Given the description of an element on the screen output the (x, y) to click on. 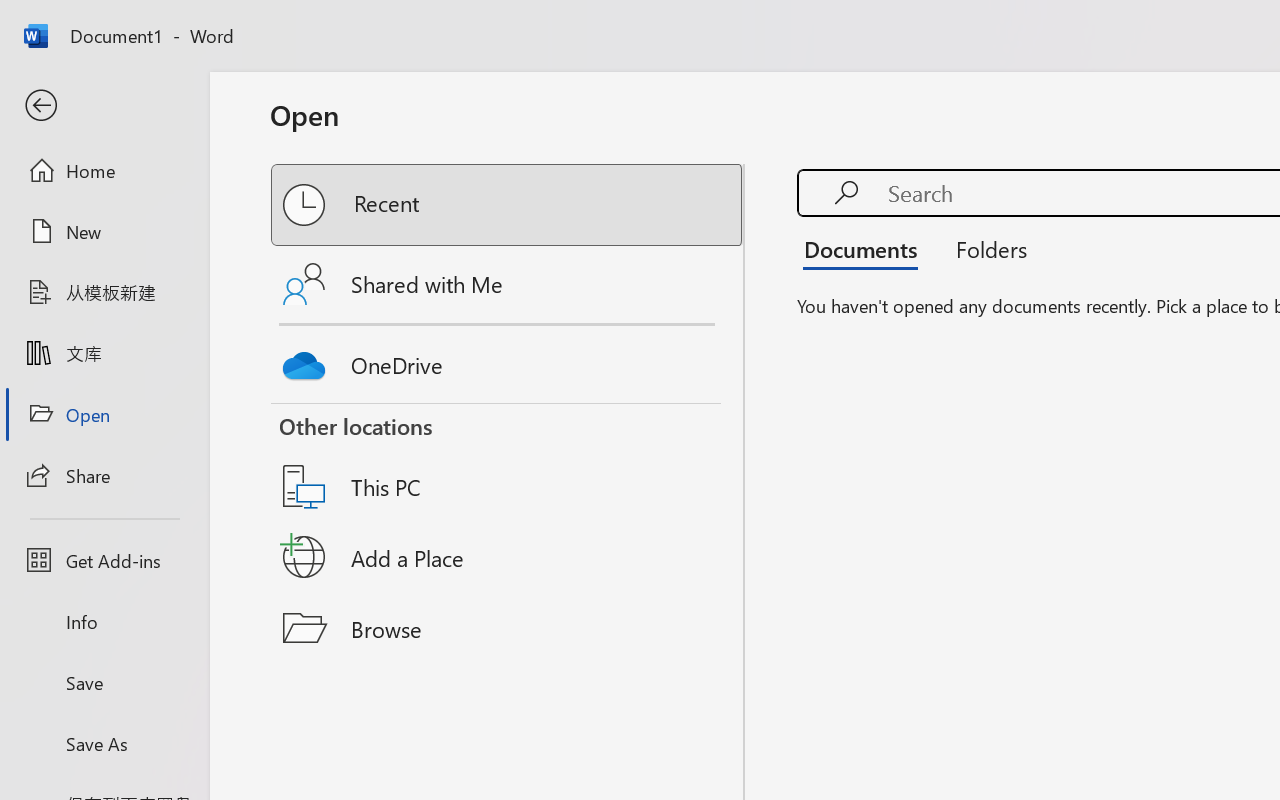
Get Add-ins (104, 560)
Info (104, 621)
Save As (104, 743)
Folders (984, 248)
